Given the description of an element on the screen output the (x, y) to click on. 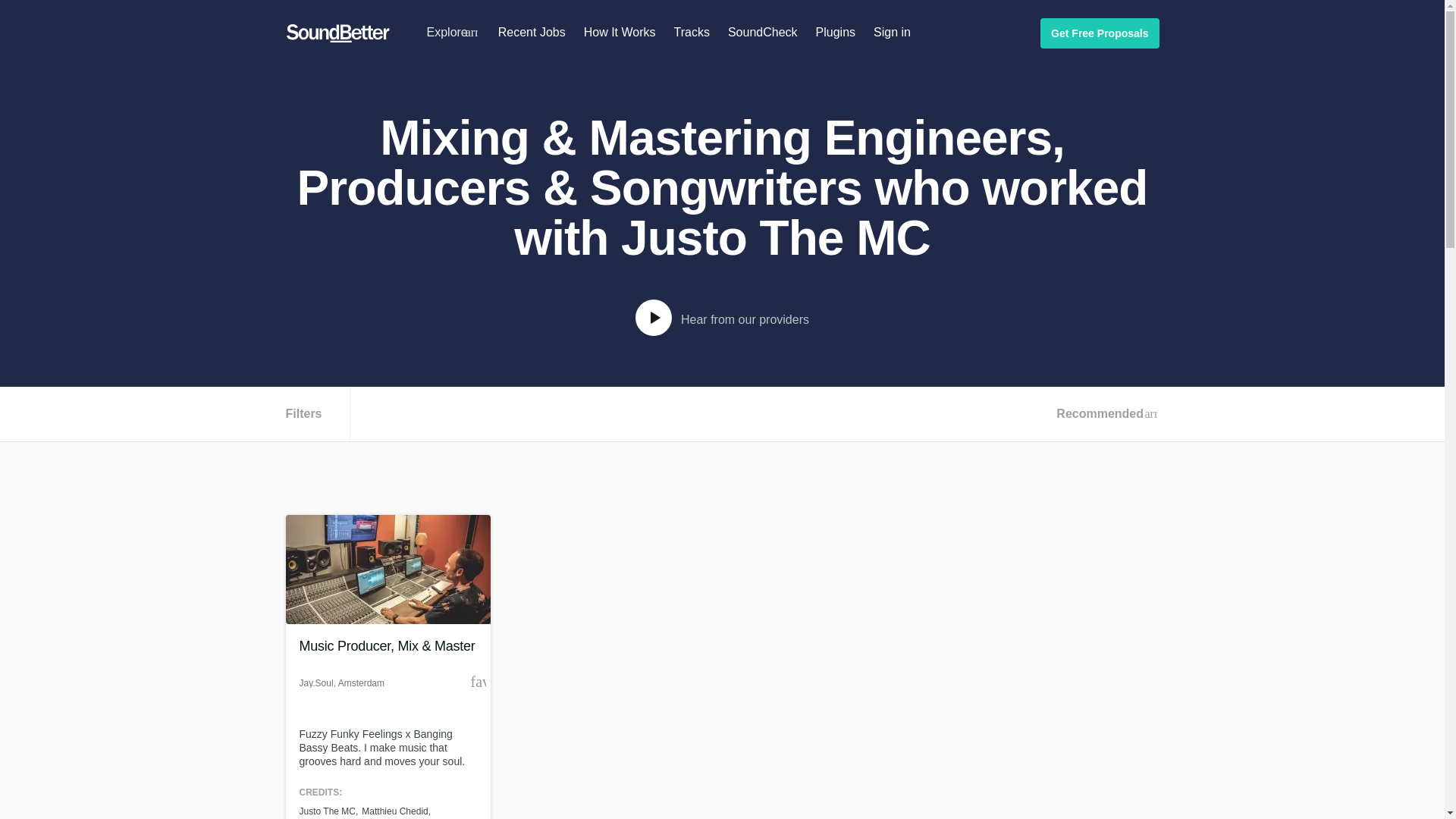
SoundBetter (337, 33)
